Given the description of an element on the screen output the (x, y) to click on. 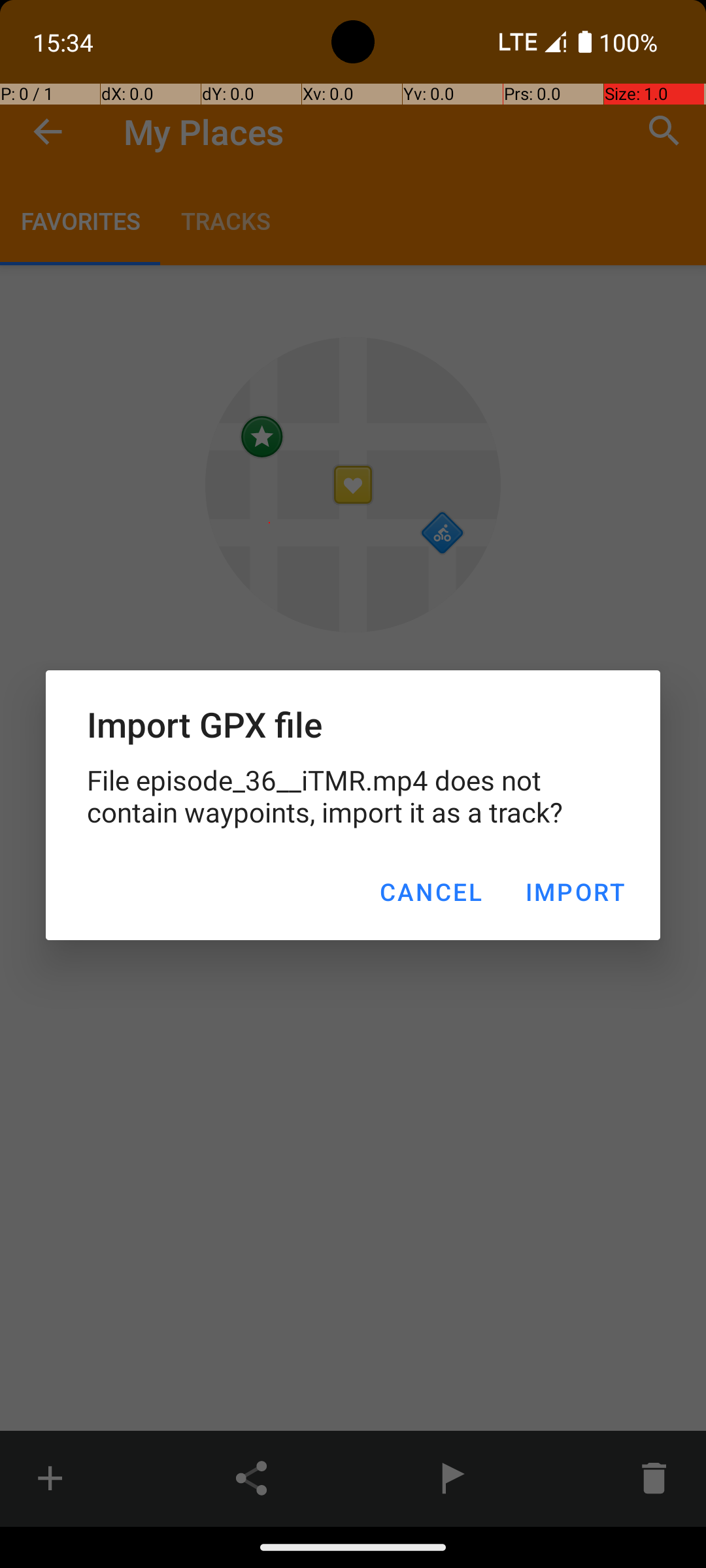
Import GPX file Element type: android.widget.TextView (352, 724)
File episode_36__iTMR.mp4 does not contain waypoints, import it as a track? Element type: android.widget.TextView (352, 795)
IMPORT Element type: android.widget.Button (574, 891)
